Given the description of an element on the screen output the (x, y) to click on. 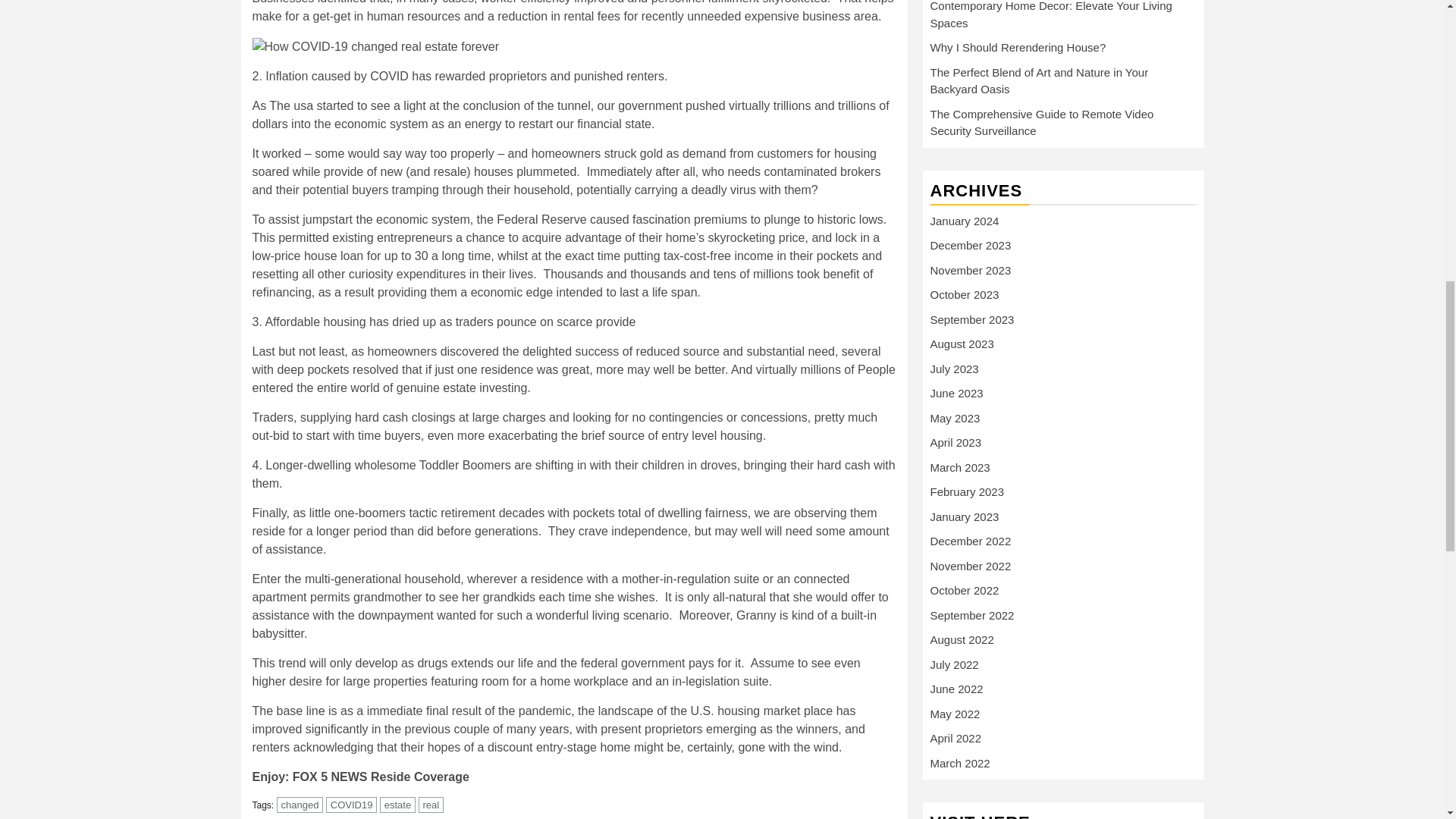
changed (299, 804)
real (431, 804)
How COVID-19 changed real estate forever (374, 46)
COVID19 (351, 804)
estate (397, 804)
